Given the description of an element on the screen output the (x, y) to click on. 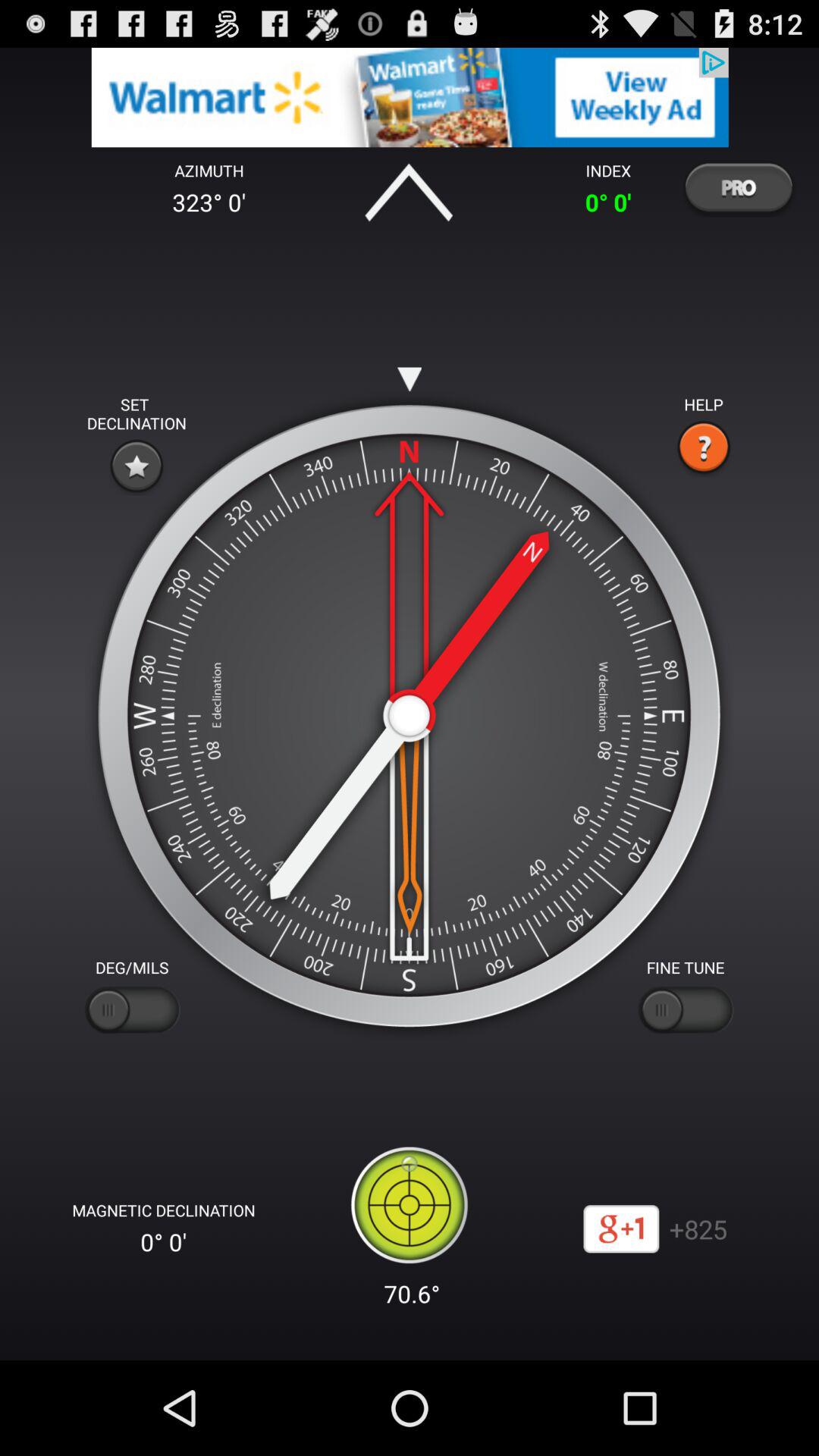
decline option (136, 465)
